Given the description of an element on the screen output the (x, y) to click on. 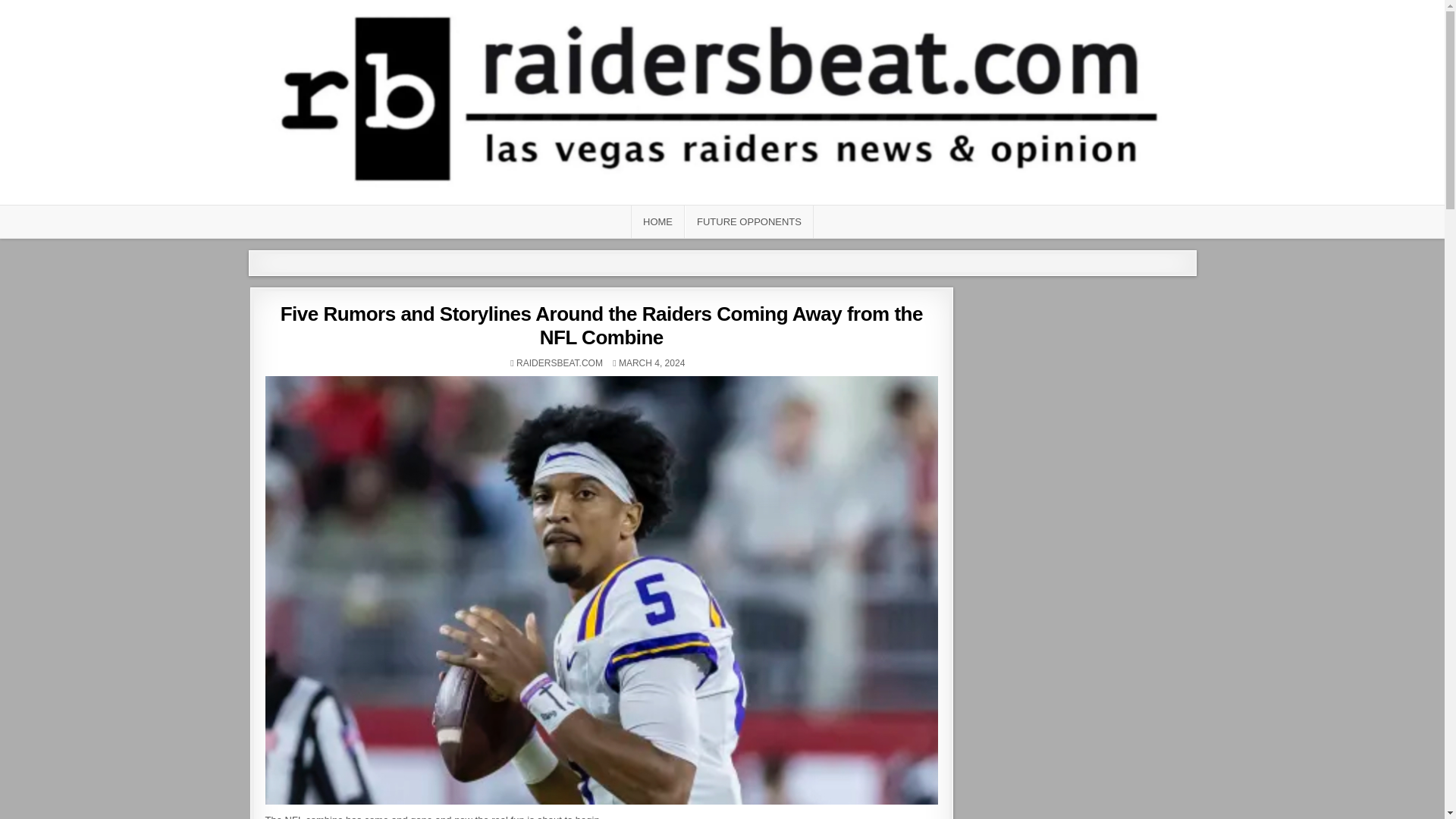
HOME (657, 221)
RAIDERSBEAT.COM (559, 362)
FUTURE OPPONENTS (748, 221)
